Given the description of an element on the screen output the (x, y) to click on. 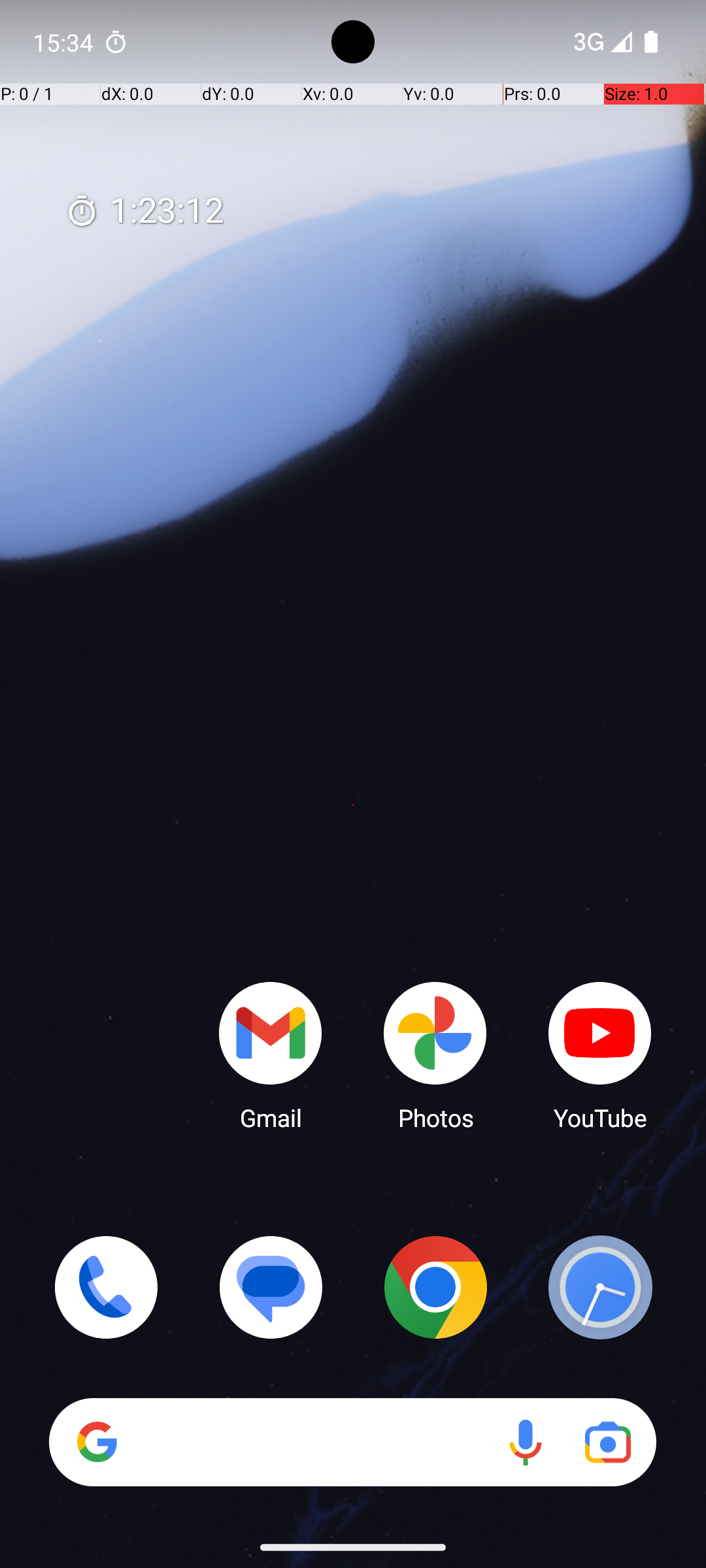
1:23:12 Element type: android.widget.TextView (144, 210)
